Given the description of an element on the screen output the (x, y) to click on. 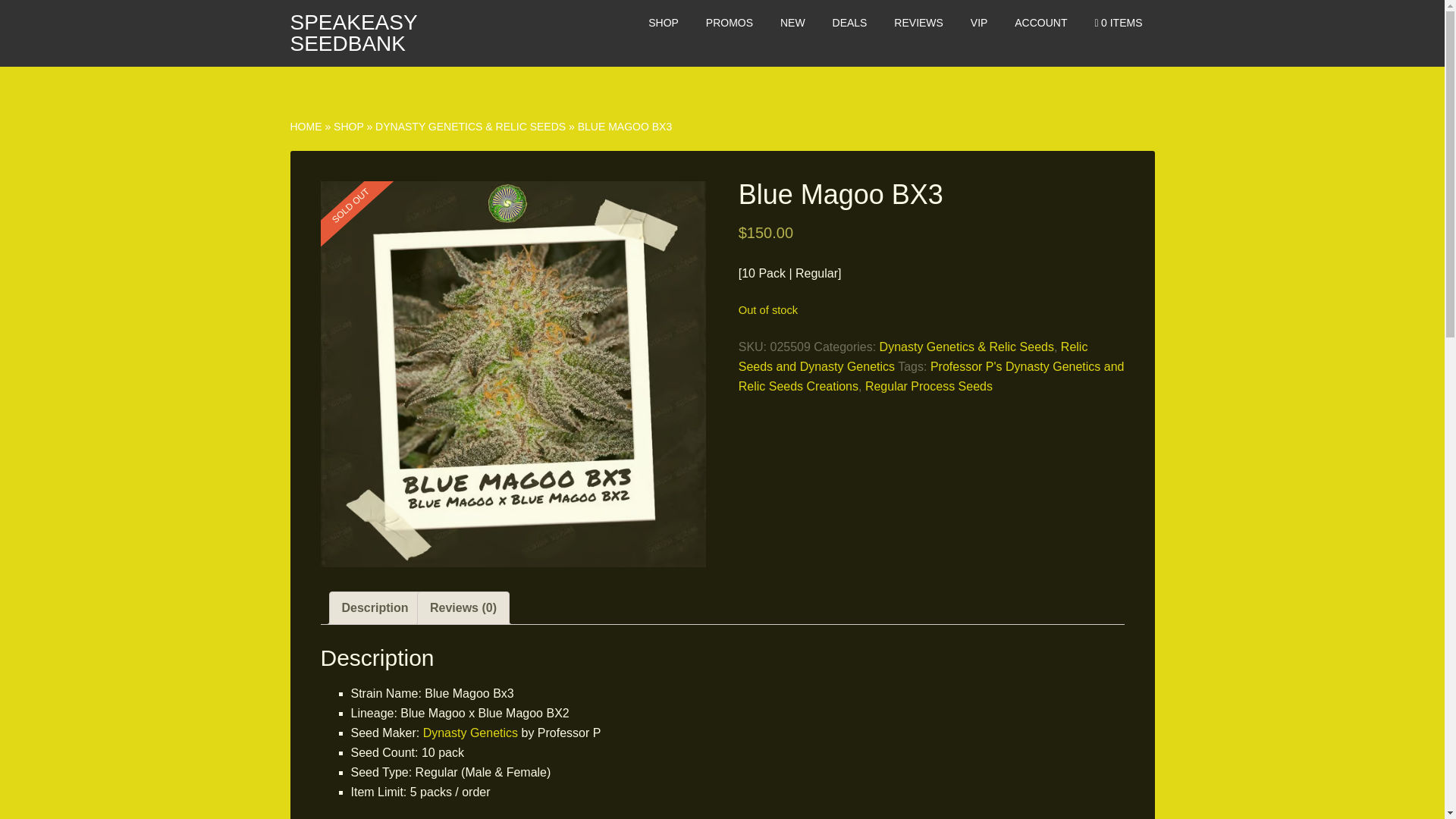
Regular Process Seeds (928, 386)
HOME (305, 126)
PROMOS (729, 22)
SHOP (347, 126)
Description (373, 608)
Dynasty Genetics (470, 732)
ACCOUNT (1040, 22)
SPEAKEASY SEEDBANK (352, 32)
SHOP (663, 22)
